Given the description of an element on the screen output the (x, y) to click on. 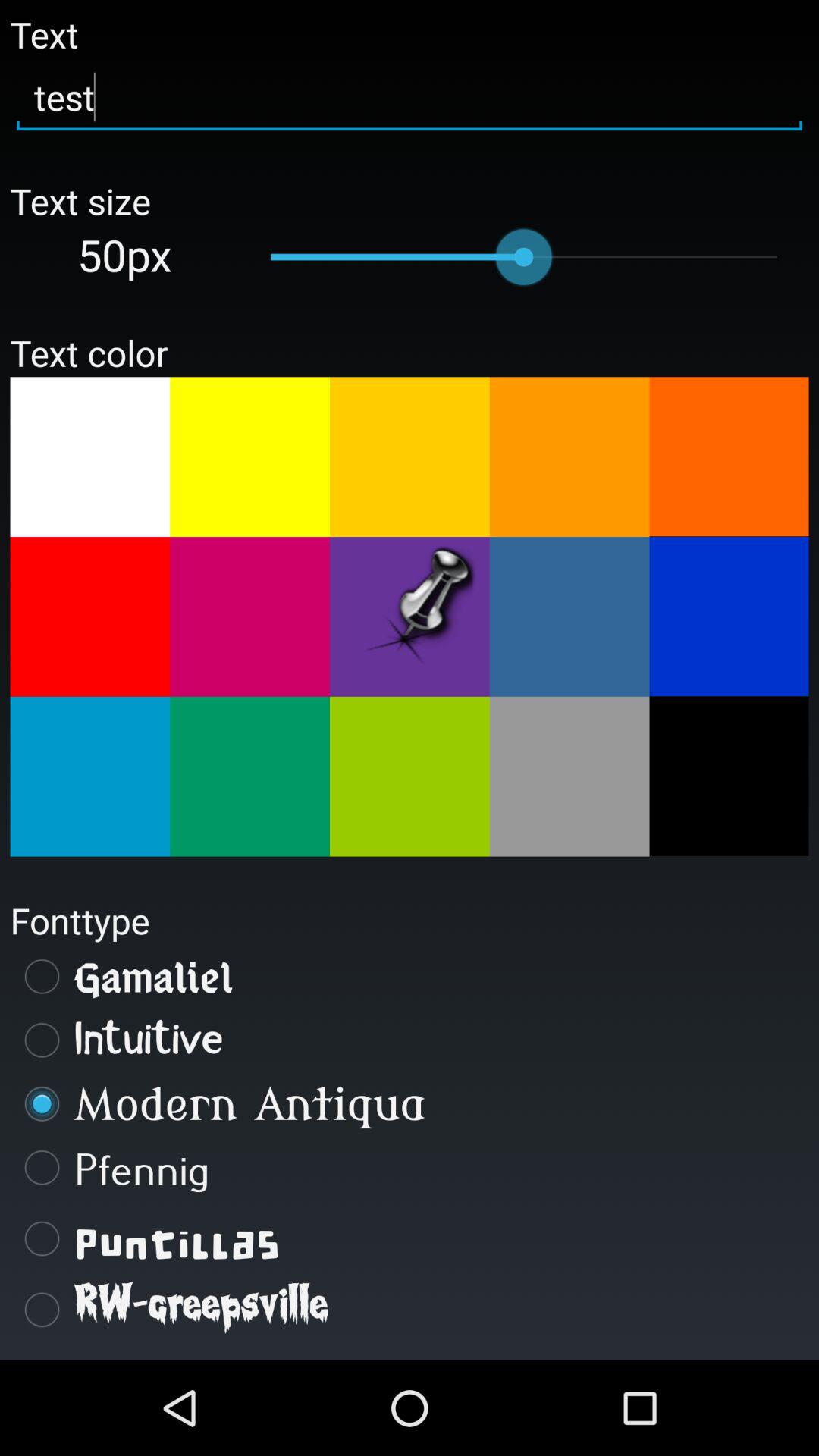
select text color (728, 456)
